Given the description of an element on the screen output the (x, y) to click on. 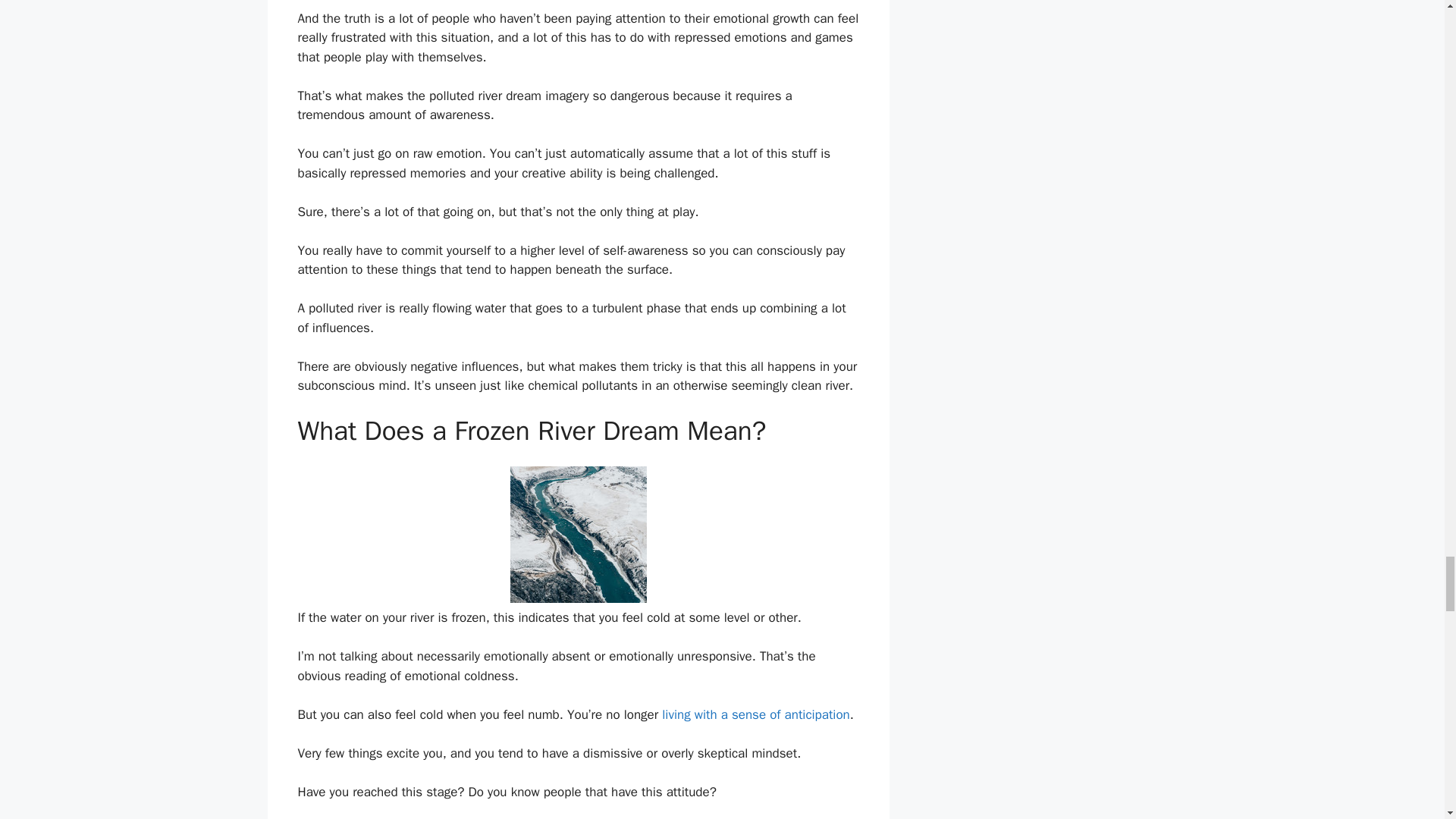
living with a sense of anticipation (755, 714)
